Given the description of an element on the screen output the (x, y) to click on. 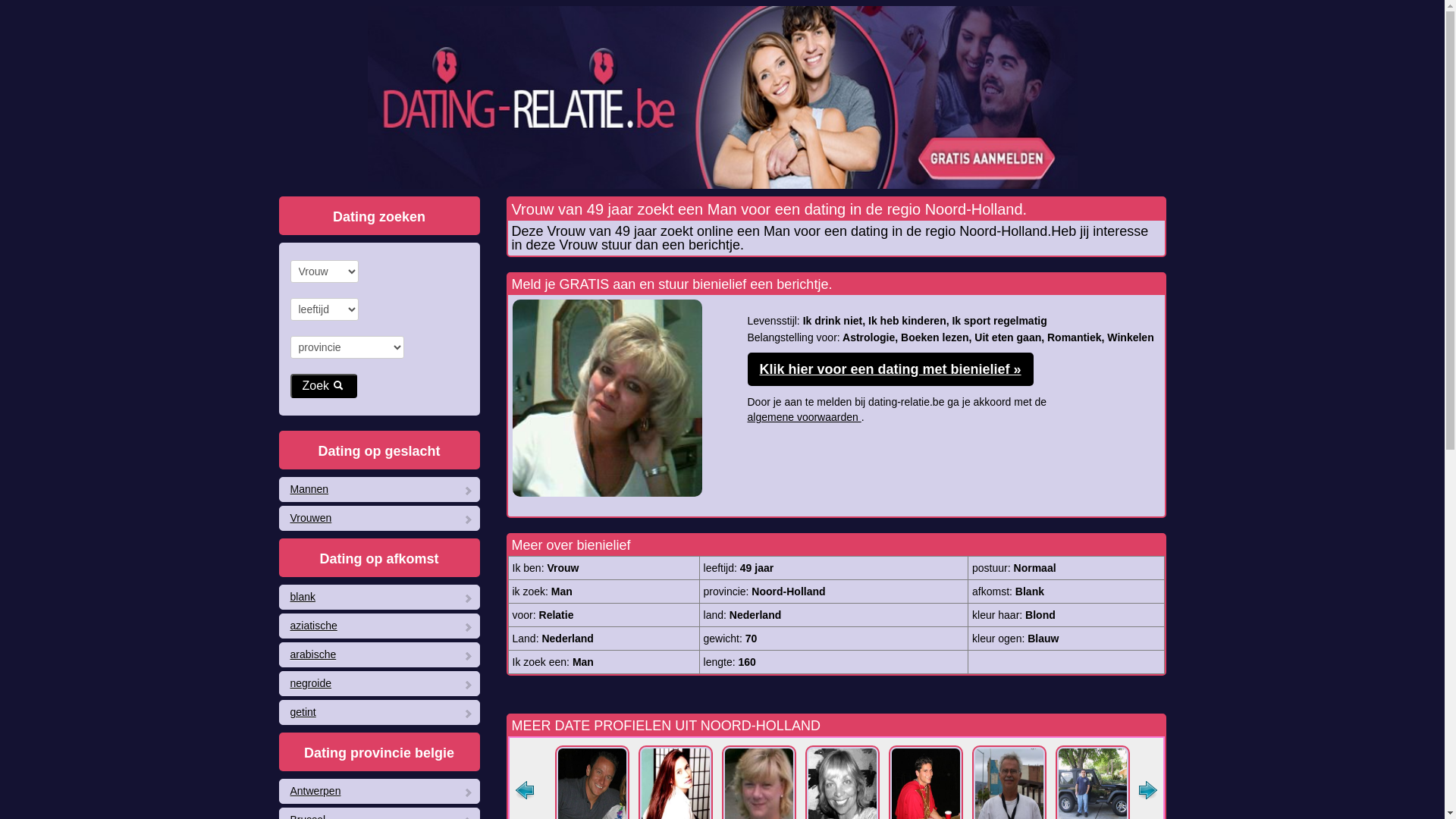
algemene voorwaarden Element type: text (804, 417)
blank Element type: text (379, 596)
arabische Element type: text (379, 654)
aziatische Element type: text (379, 625)
getint Element type: text (379, 711)
Antwerpen Element type: text (379, 790)
Zoek Element type: text (322, 385)
Mannen Element type: text (379, 489)
negroide Element type: text (379, 683)
Vrouwen Element type: text (379, 517)
Dating met bienielief Element type: hover (606, 397)
